Given the description of an element on the screen output the (x, y) to click on. 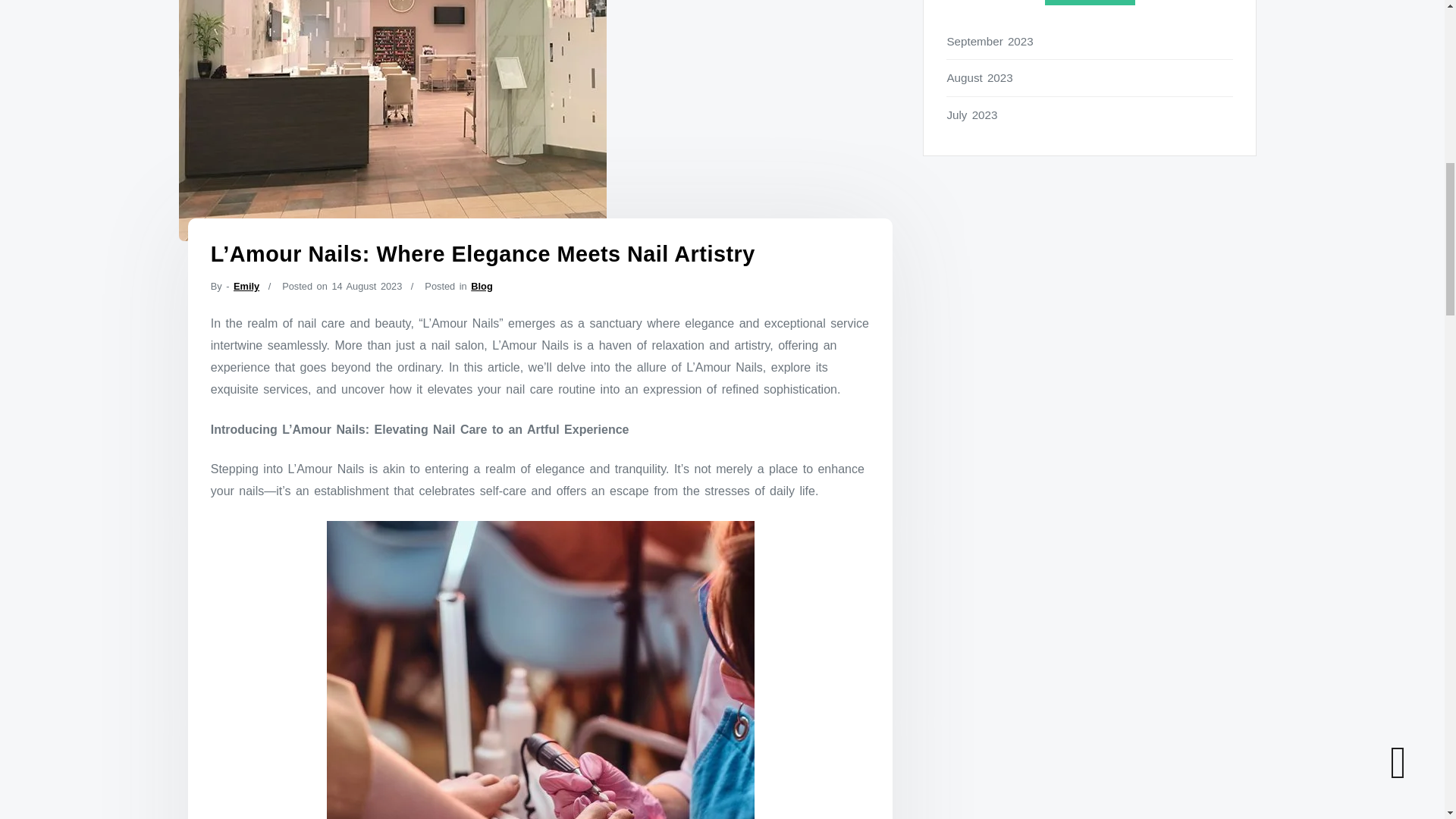
August 2023 (1089, 77)
July 2023 (1089, 114)
September 2023 (1089, 41)
Blog (481, 285)
Emily (245, 285)
